Given the description of an element on the screen output the (x, y) to click on. 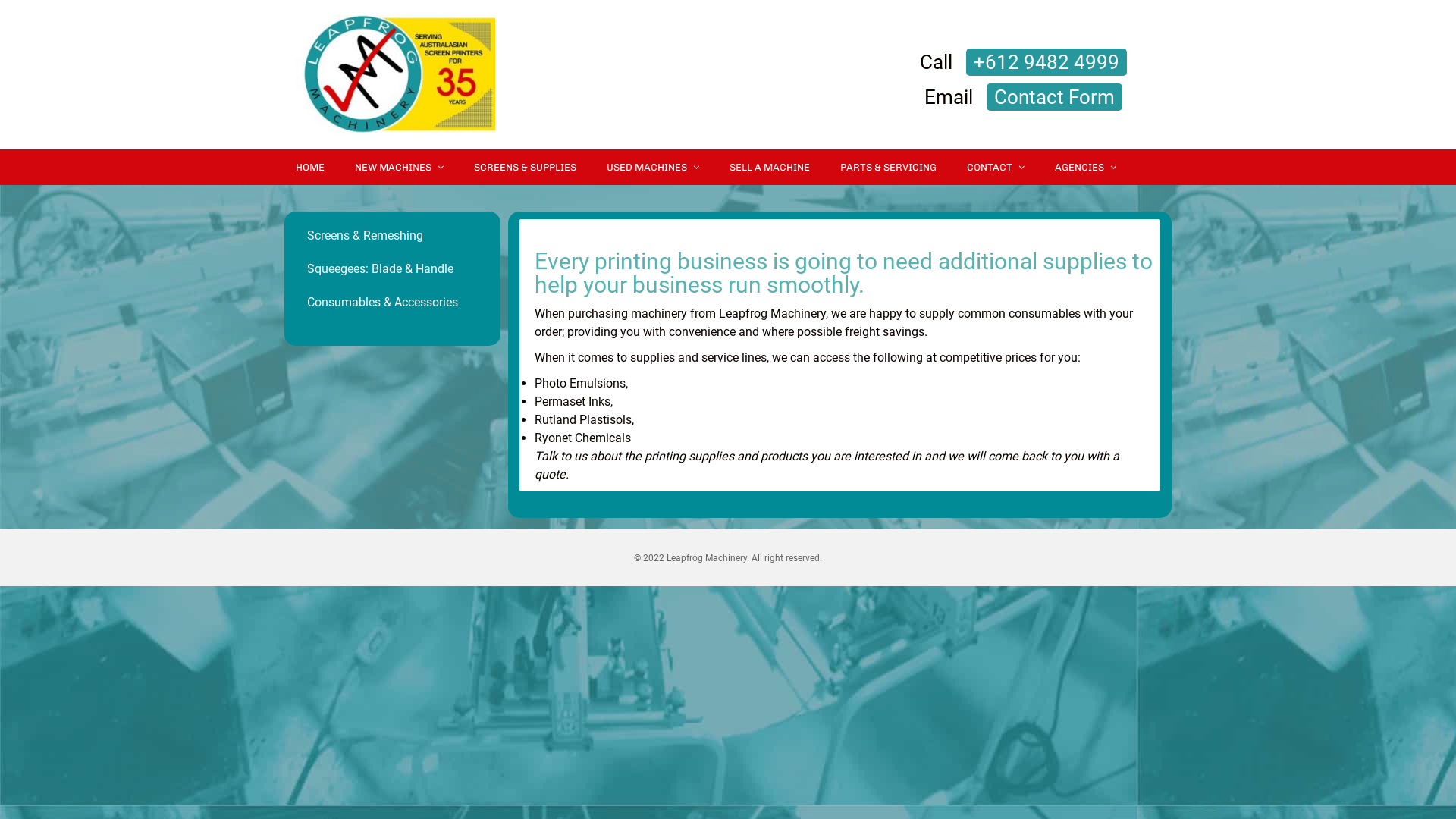
NEW MACHINES Element type: text (398, 166)
Contact Form Element type: text (1054, 96)
SELL A MACHINE Element type: text (769, 166)
Consumables & Accessories Element type: text (392, 302)
CONTACT Element type: text (995, 166)
SCREENS & SUPPLIES Element type: text (524, 166)
Squeegees: Blade & Handle Element type: text (392, 268)
Screens & Remeshing Element type: text (392, 235)
PARTS & SERVICING Element type: text (888, 166)
USED MACHINES Element type: text (652, 166)
+612 9482 4999 Element type: text (1046, 61)
HOME Element type: text (309, 166)
AGENCIES Element type: text (1085, 166)
